Given the description of an element on the screen output the (x, y) to click on. 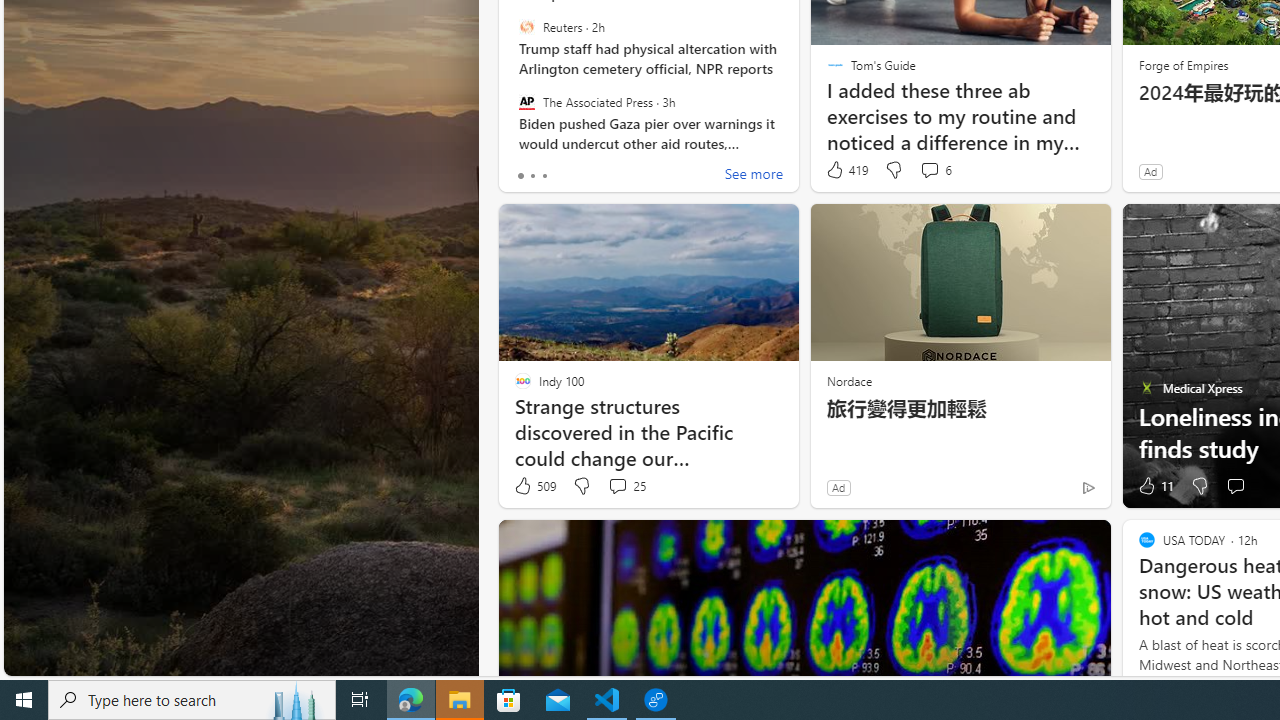
View comments 25 Comment (617, 485)
Reuters (526, 27)
View comments 6 Comment (935, 170)
View comments 6 Comment (929, 169)
View comments 25 Comment (626, 485)
